Given the description of an element on the screen output the (x, y) to click on. 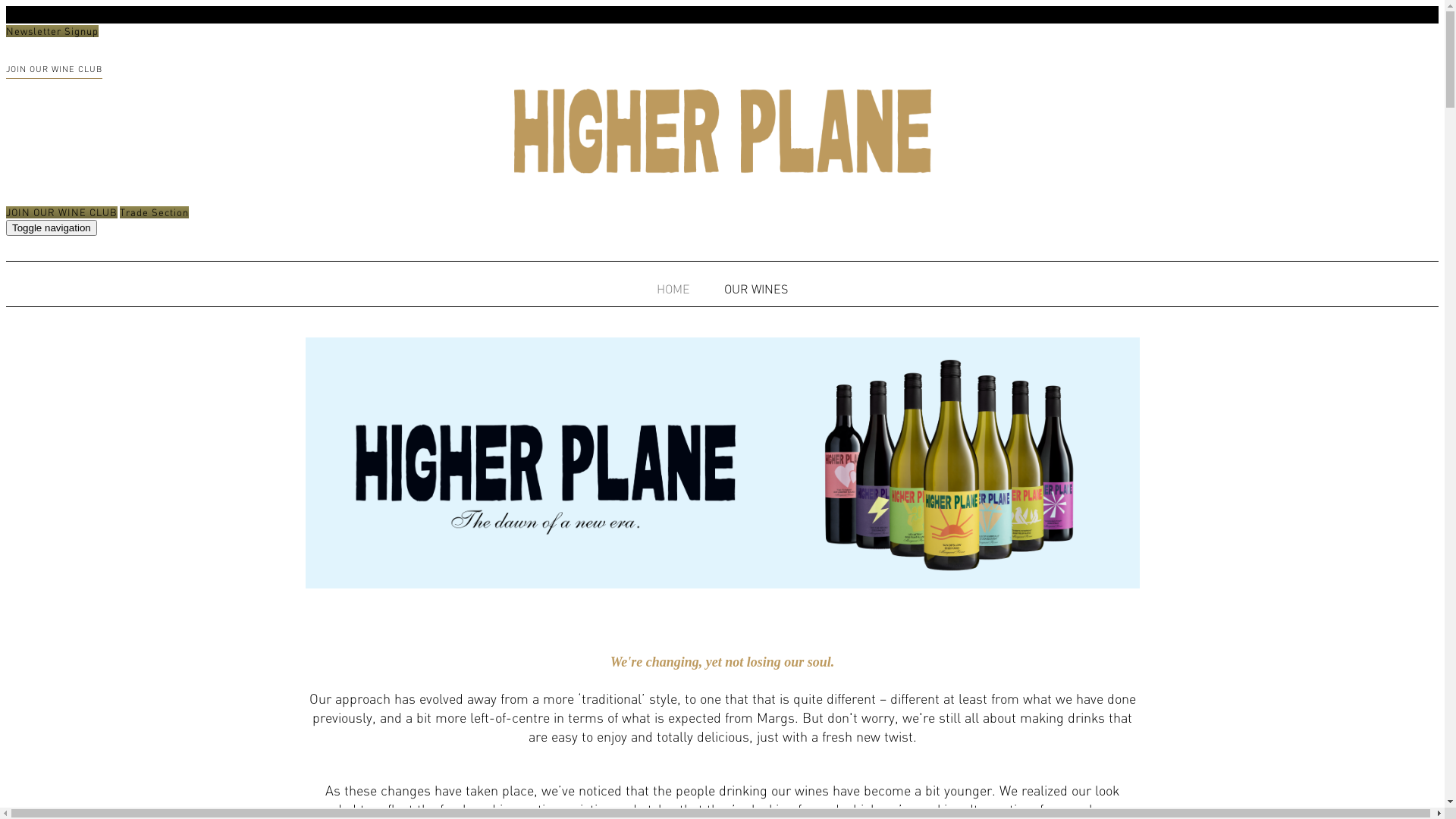
JOIN OUR WINE CLUB Element type: text (54, 69)
Newsletter Signup Element type: text (52, 31)
OUR WINES Element type: text (755, 288)
Toggle navigation Element type: text (51, 227)
HOME Element type: text (673, 288)
Trade Section Element type: text (153, 212)
JOIN OUR WINE CLUB Element type: text (61, 212)
